Given the description of an element on the screen output the (x, y) to click on. 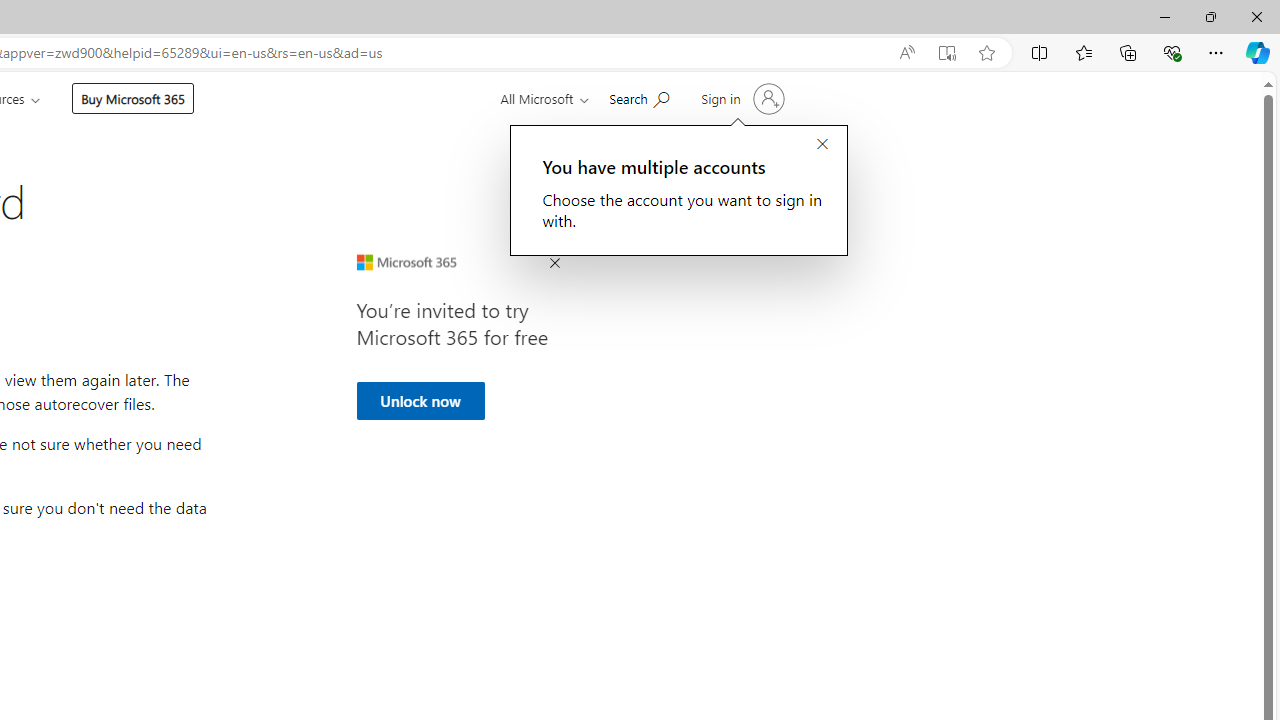
Add this page to favorites (Ctrl+D) (986, 53)
Close (1256, 16)
Search for help (639, 97)
Buy Microsoft 365 (132, 97)
Buy Microsoft 365 (132, 98)
Sign in to your account (740, 98)
Minimize (1164, 16)
Favorites (1083, 52)
Restore (1210, 16)
Split screen (1039, 52)
Copilot (Ctrl+Shift+.) (1258, 52)
Read aloud this page (Ctrl+Shift+U) (906, 53)
Close Ad (554, 264)
